Given the description of an element on the screen output the (x, y) to click on. 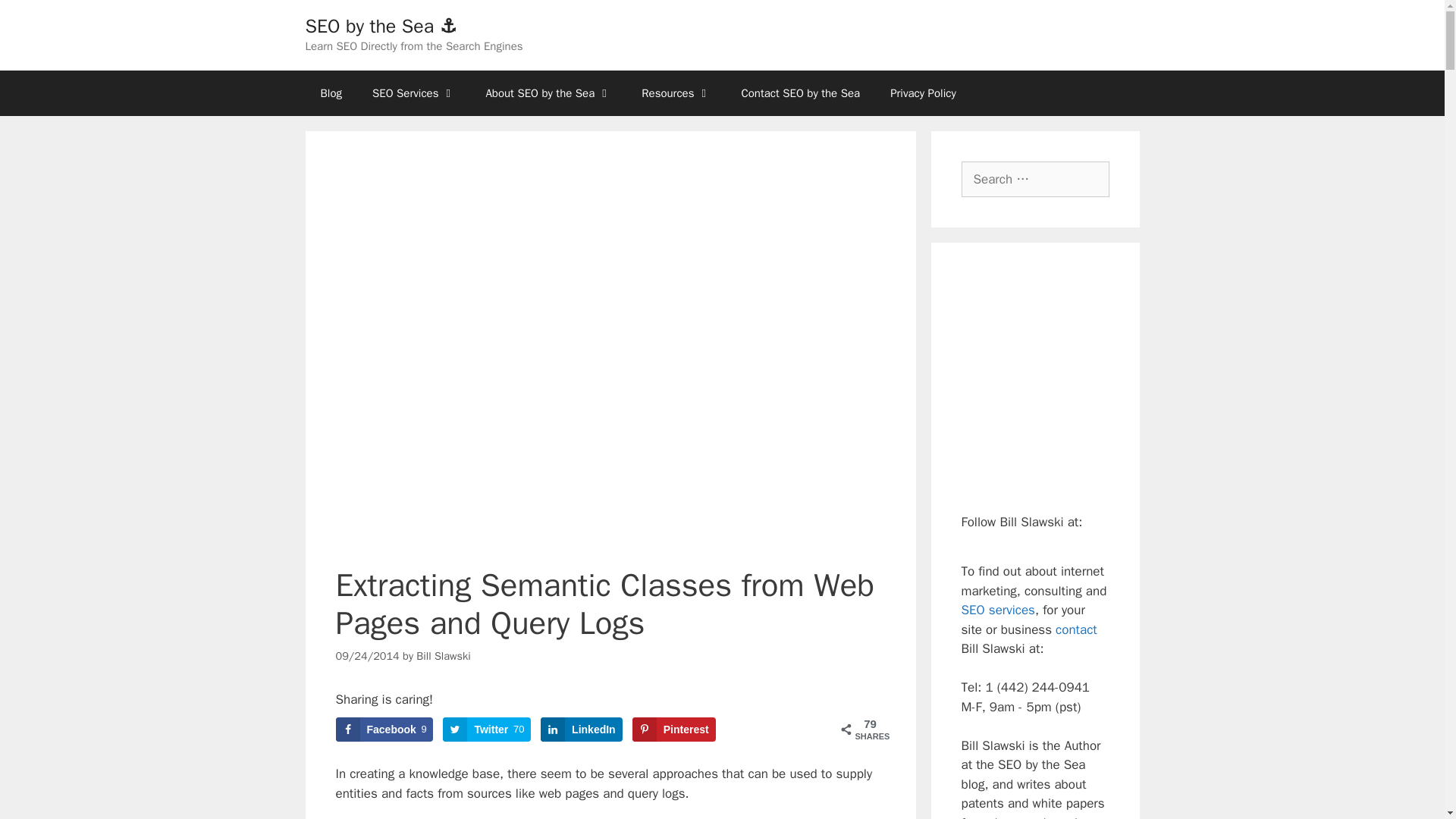
Share on Facebook (383, 729)
SEO Services (486, 729)
Blog (413, 92)
LinkedIn (330, 92)
Privacy Policy (581, 729)
About SEO by the Sea (923, 92)
Contact SEO by the Sea (548, 92)
Share on Twitter (800, 92)
Share on LinkedIn (486, 729)
